Given the description of an element on the screen output the (x, y) to click on. 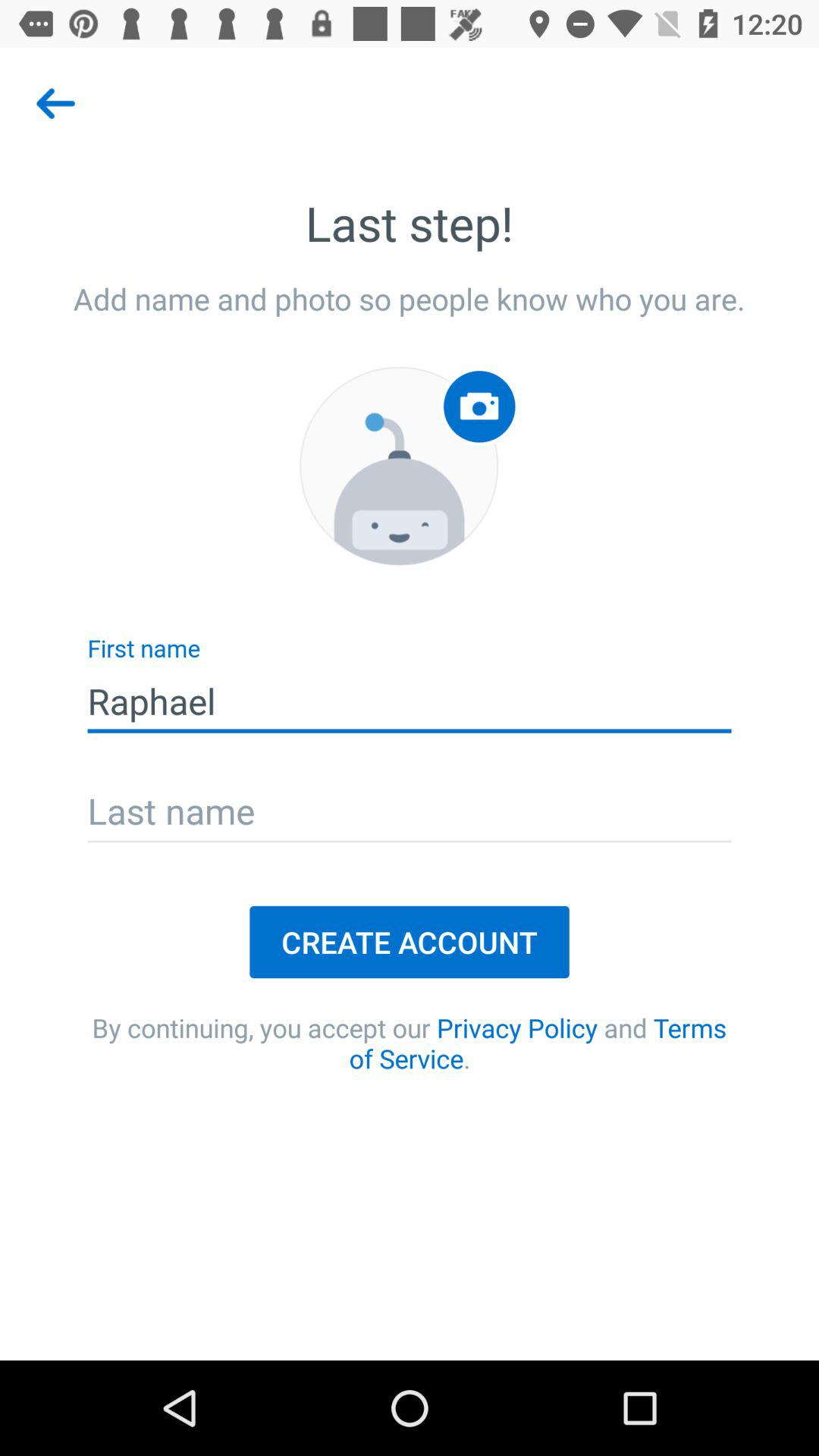
flip to create account (409, 942)
